Given the description of an element on the screen output the (x, y) to click on. 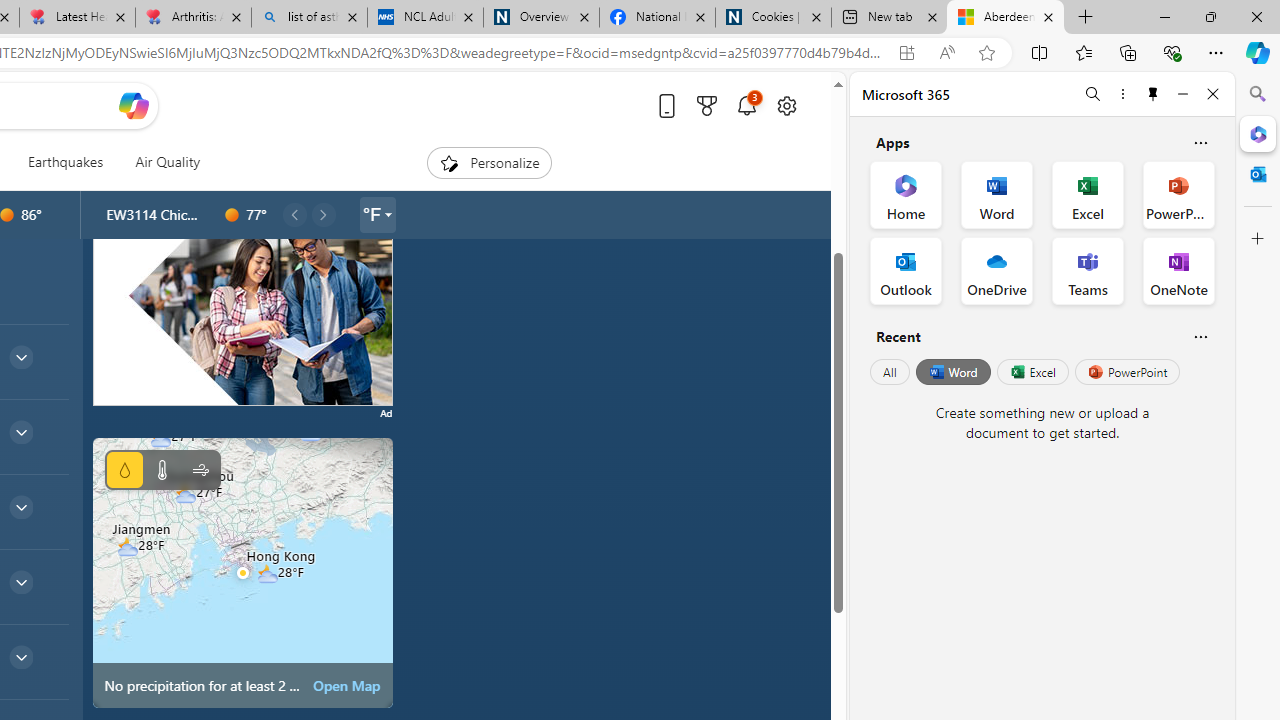
Air Quality (167, 162)
Excel (1031, 372)
OneDrive Office App (996, 270)
Word (952, 372)
common/carouselChevron (323, 214)
Excel Office App (1087, 194)
Class: miniMapRadarSVGView-DS-EntryPoint1-1 (242, 572)
d0000 (232, 215)
